Given the description of an element on the screen output the (x, y) to click on. 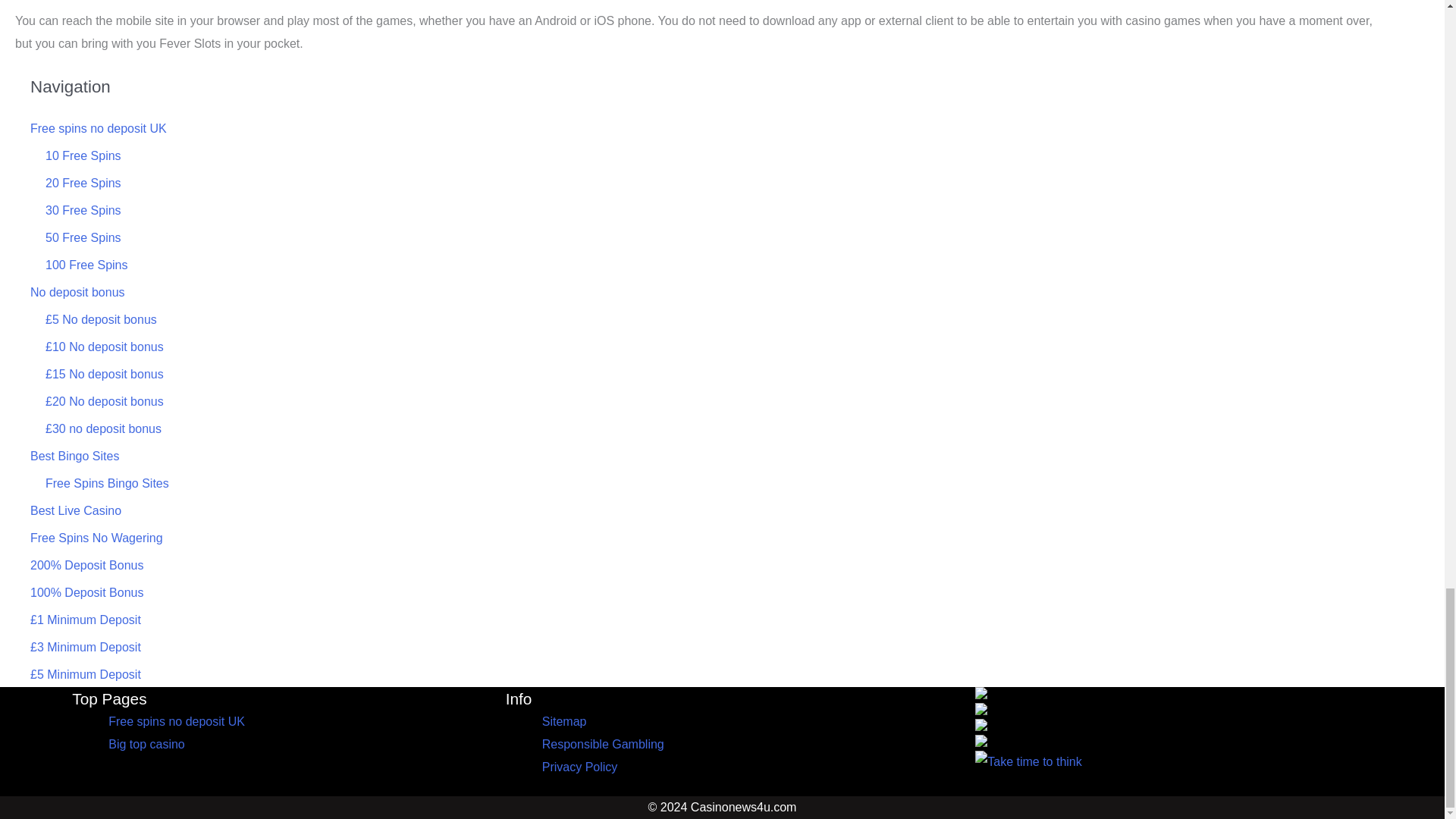
Free spins no deposit UK (98, 128)
Best Bingo Sites (74, 455)
No deposit bonus (77, 291)
30 Free Spins (82, 210)
20 Free Spins (82, 182)
100 Free Spins (86, 264)
50 Free Spins (82, 237)
Free Spins Bingo Sites (106, 482)
10 Free Spins (82, 155)
